Given the description of an element on the screen output the (x, y) to click on. 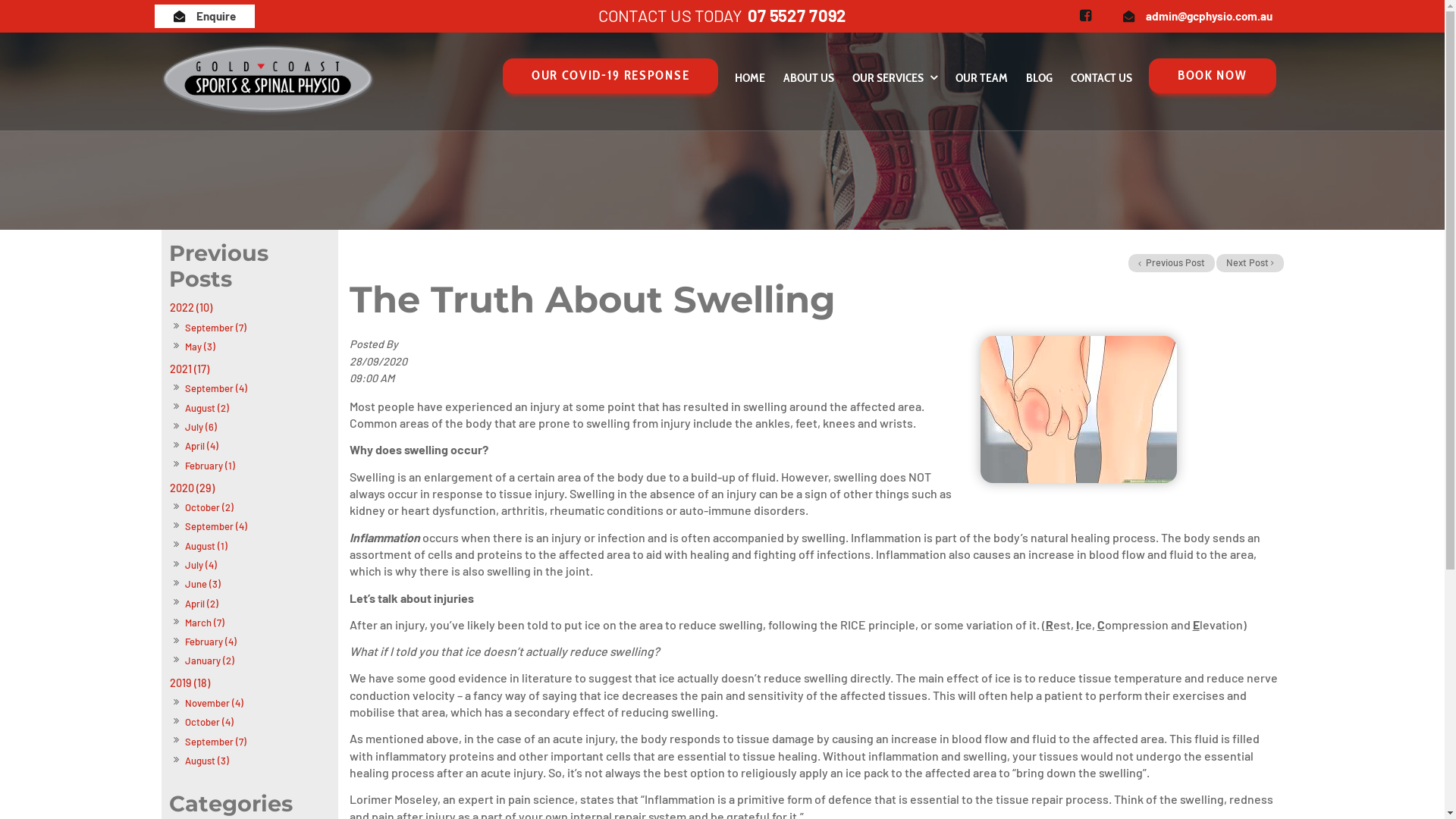
October (2) Element type: text (208, 507)
July (6) Element type: text (200, 427)
BLOG Element type: text (1039, 78)
August (3) Element type: text (206, 760)
CONTACT US Element type: text (1101, 78)
April (4) Element type: text (201, 446)
Previous Post Element type: text (1171, 263)
Enquire Element type: text (203, 15)
October (4) Element type: text (208, 722)
admin@gcphysio.com.au Element type: text (1197, 16)
HOME Element type: text (749, 78)
2020 (29) Element type: text (248, 487)
September (7) Element type: text (215, 740)
August (2) Element type: text (206, 407)
April (2) Element type: text (201, 602)
Next Post Element type: text (1249, 263)
November (4) Element type: text (213, 703)
OUR COVID-19 RESPONSE Element type: text (610, 75)
OUR SERVICES Element type: text (894, 78)
August (1) Element type: text (205, 545)
January (2) Element type: text (209, 660)
February (4) Element type: text (210, 641)
May (3) Element type: text (199, 346)
September (4) Element type: text (215, 388)
June (3) Element type: text (202, 584)
BOOK NOW Element type: text (1211, 75)
ABOUT US Element type: text (808, 78)
2019 (18) Element type: text (248, 683)
2021 (17) Element type: text (248, 368)
July (4) Element type: text (200, 565)
OUR TEAM Element type: text (981, 78)
2022 (10) Element type: text (248, 307)
September (7) Element type: text (215, 326)
March (7) Element type: text (204, 622)
September (4) Element type: text (215, 526)
February (1) Element type: text (209, 464)
